Given the description of an element on the screen output the (x, y) to click on. 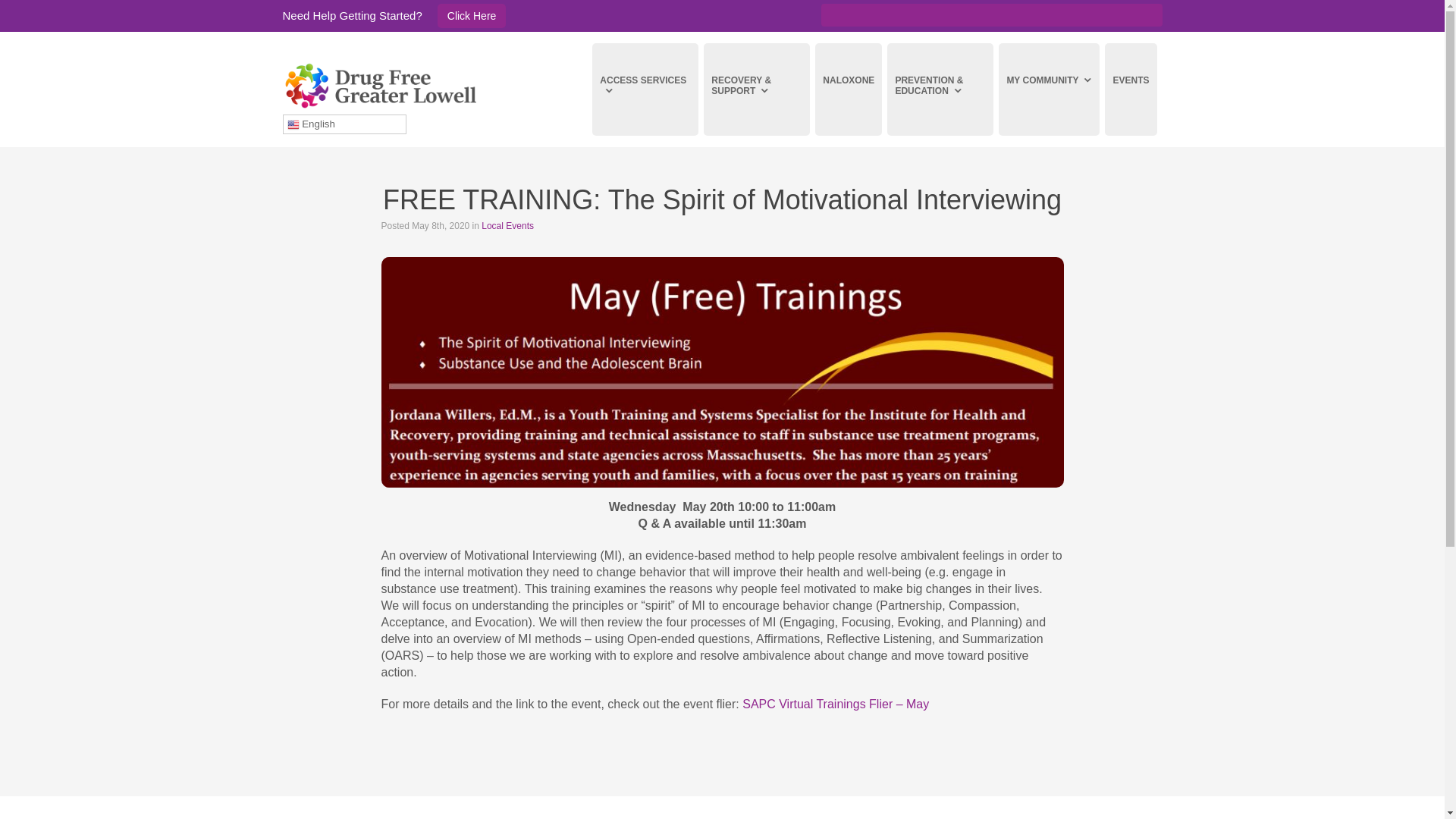
English (344, 123)
ACCESS SERVICES (645, 89)
Search for: (991, 15)
Click Here (472, 15)
